Given the description of an element on the screen output the (x, y) to click on. 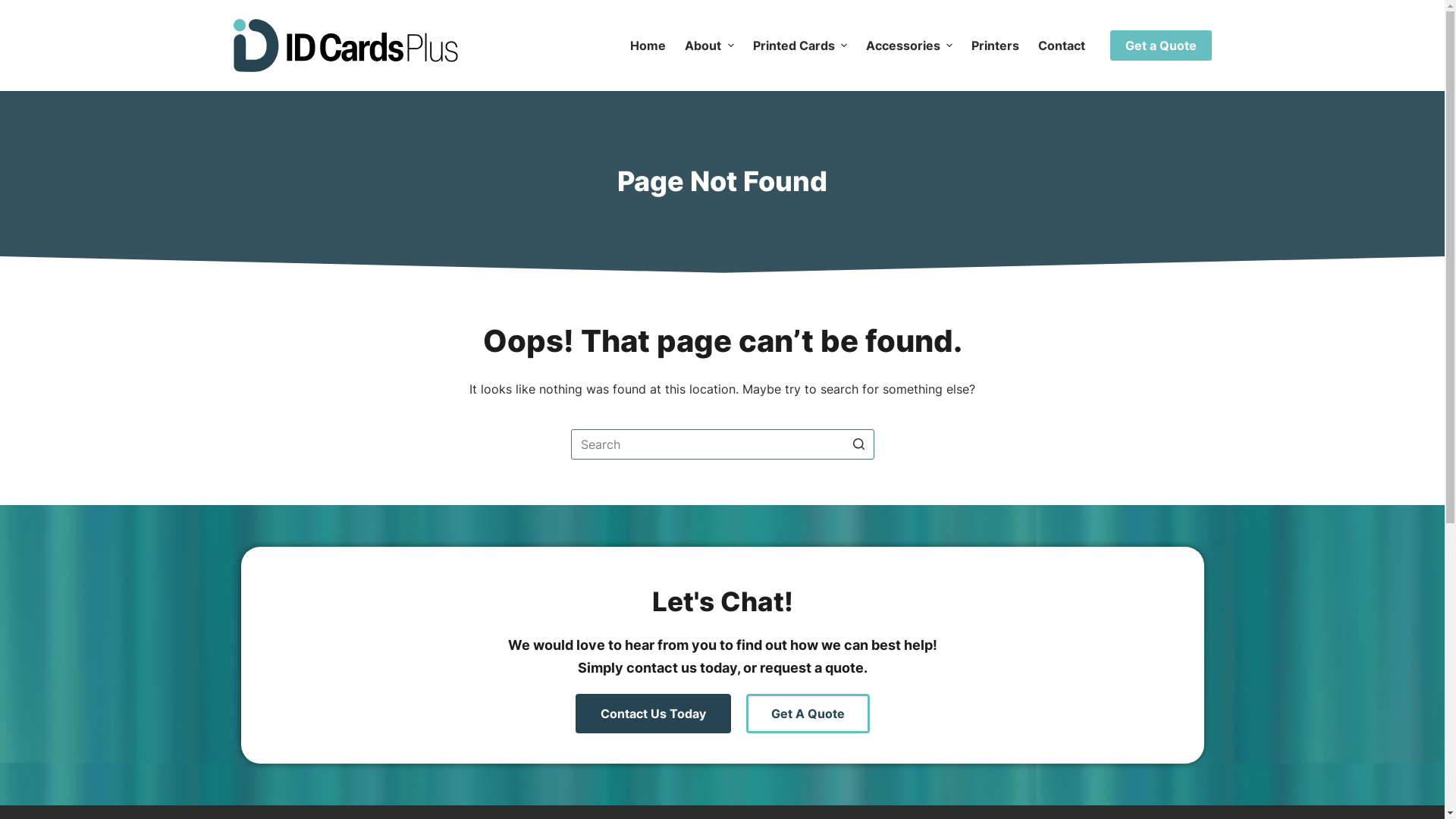
Accessories Element type: text (908, 45)
Skip to content Element type: text (15, 7)
Home Element type: text (648, 45)
Printed Cards Element type: text (799, 45)
About Element type: text (709, 45)
Printers Element type: text (994, 45)
Get A Quote Element type: text (807, 713)
Contact Element type: text (1061, 45)
Contact Us Today Element type: text (652, 713)
Get a Quote Element type: text (1160, 45)
Search for... Element type: hover (721, 444)
